Given the description of an element on the screen output the (x, y) to click on. 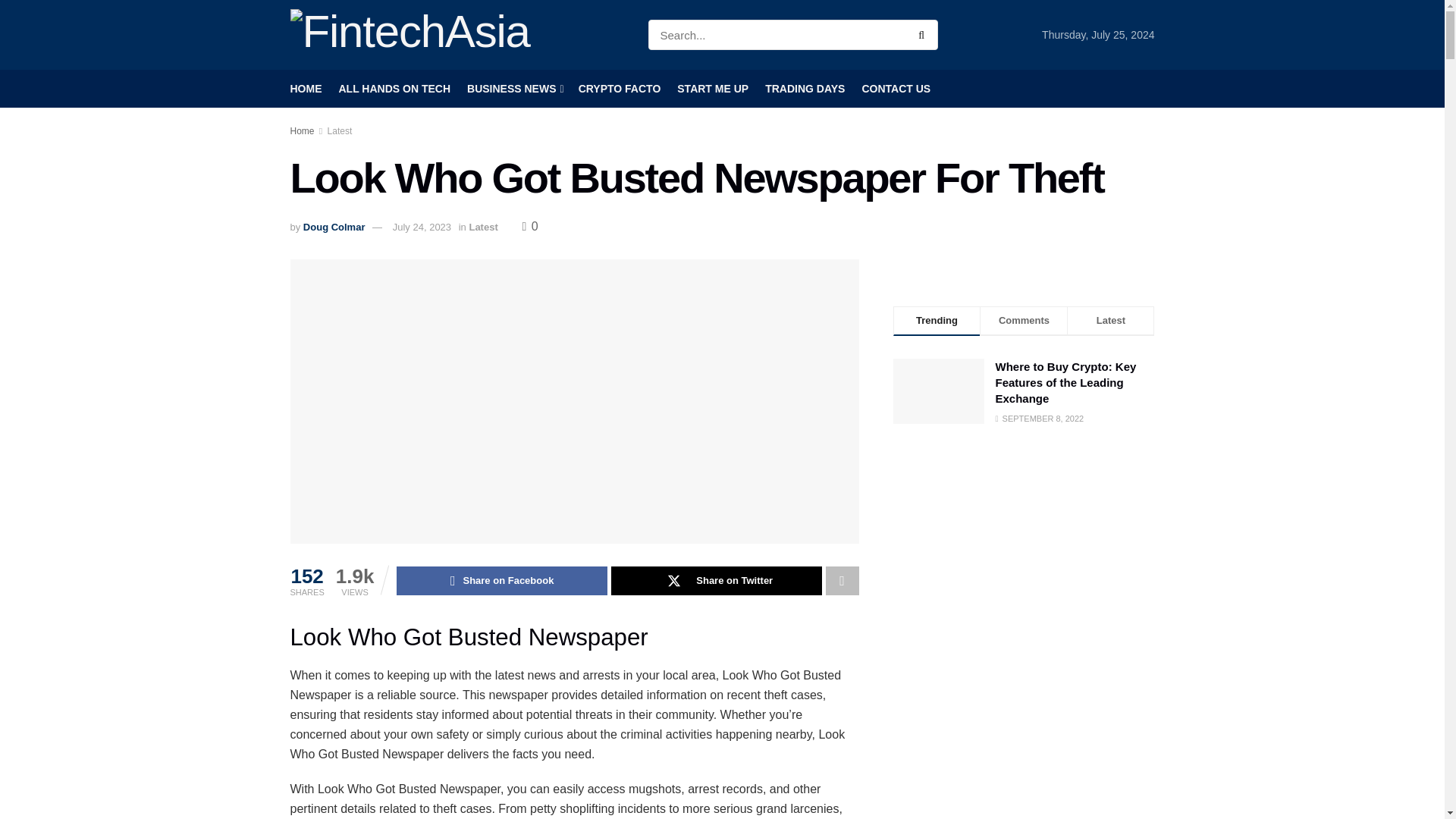
July 24, 2023 (422, 226)
HOME (305, 88)
Home (301, 131)
Latest (339, 131)
Doug Colmar (333, 226)
ALL HANDS ON TECH (393, 88)
TRADING DAYS (804, 88)
CONTACT US (895, 88)
Latest (482, 226)
START ME UP (712, 88)
Share on Twitter (716, 580)
Share on Facebook (501, 580)
BUSINESS NEWS (514, 88)
CRYPTO FACTO (619, 88)
0 (529, 226)
